Given the description of an element on the screen output the (x, y) to click on. 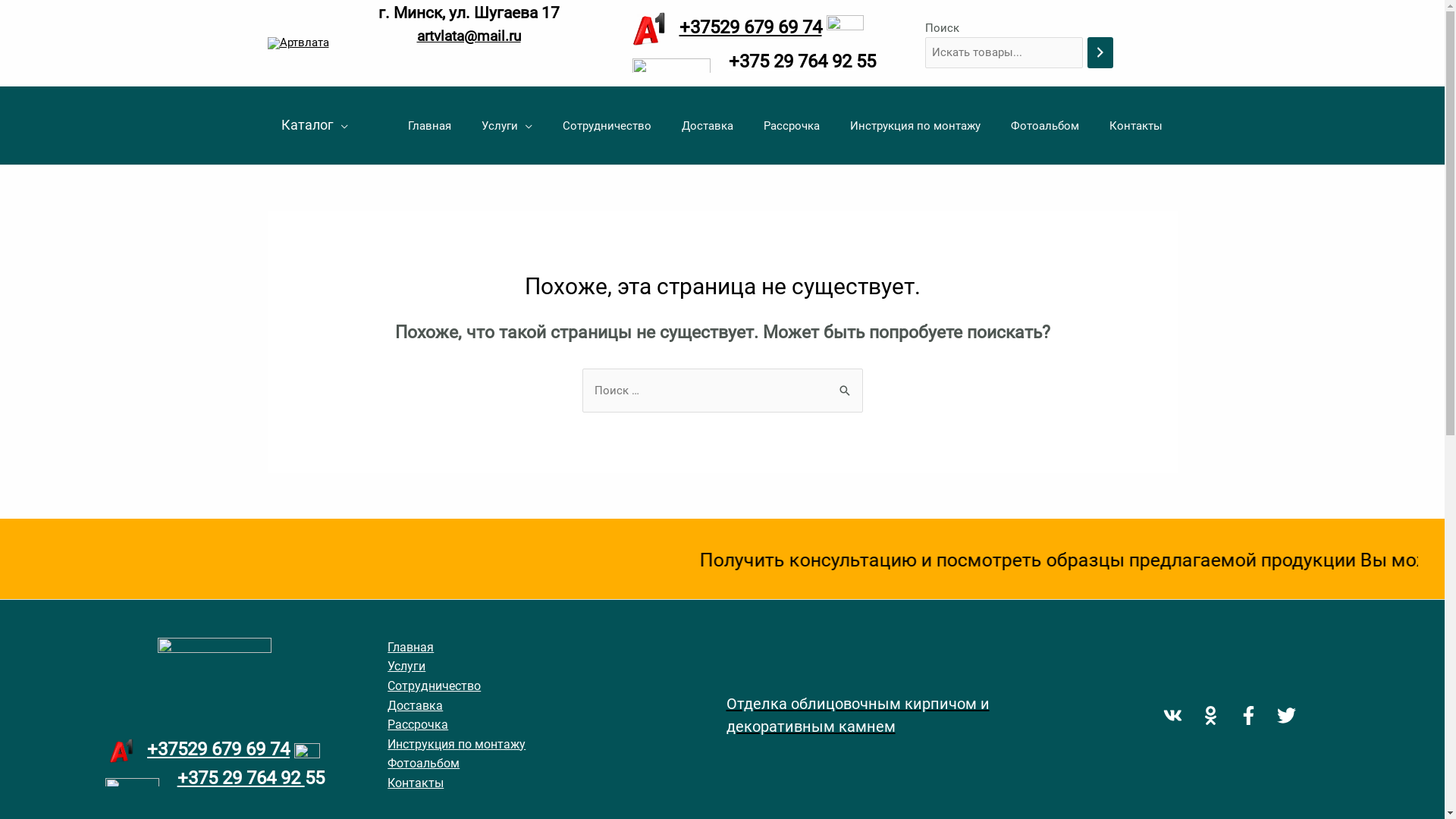
+375 29 764 92 Element type: text (791, 61)
+37529 679 69 74 Element type: text (218, 748)
+375 29 764 92 Element type: text (240, 777)
+37529 679 69 74 Element type: text (750, 26)
artvlata@mail.ru Element type: text (468, 36)
